Given the description of an element on the screen output the (x, y) to click on. 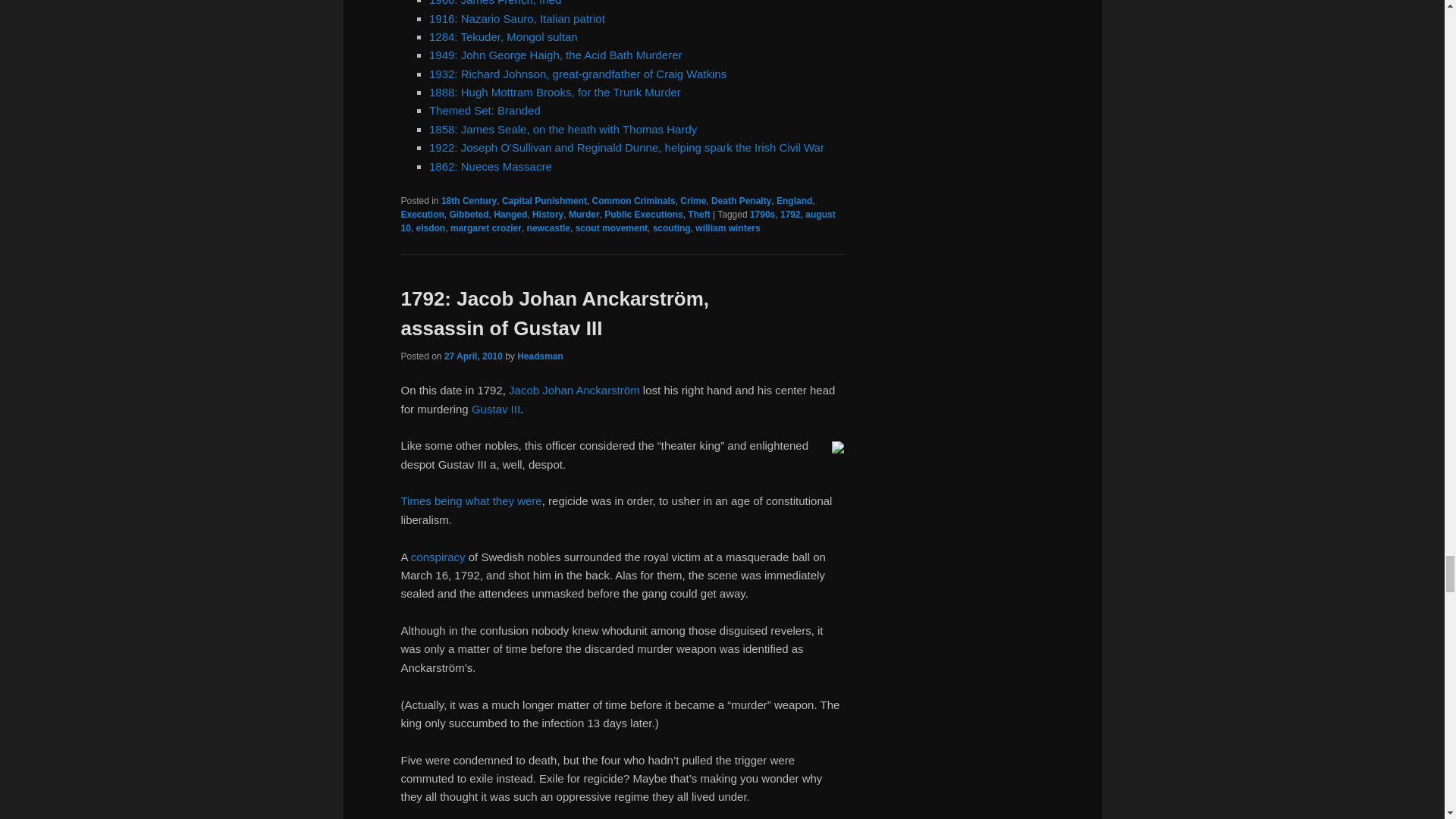
View all posts by Headsman (539, 356)
4:20 am (473, 356)
